Given the description of an element on the screen output the (x, y) to click on. 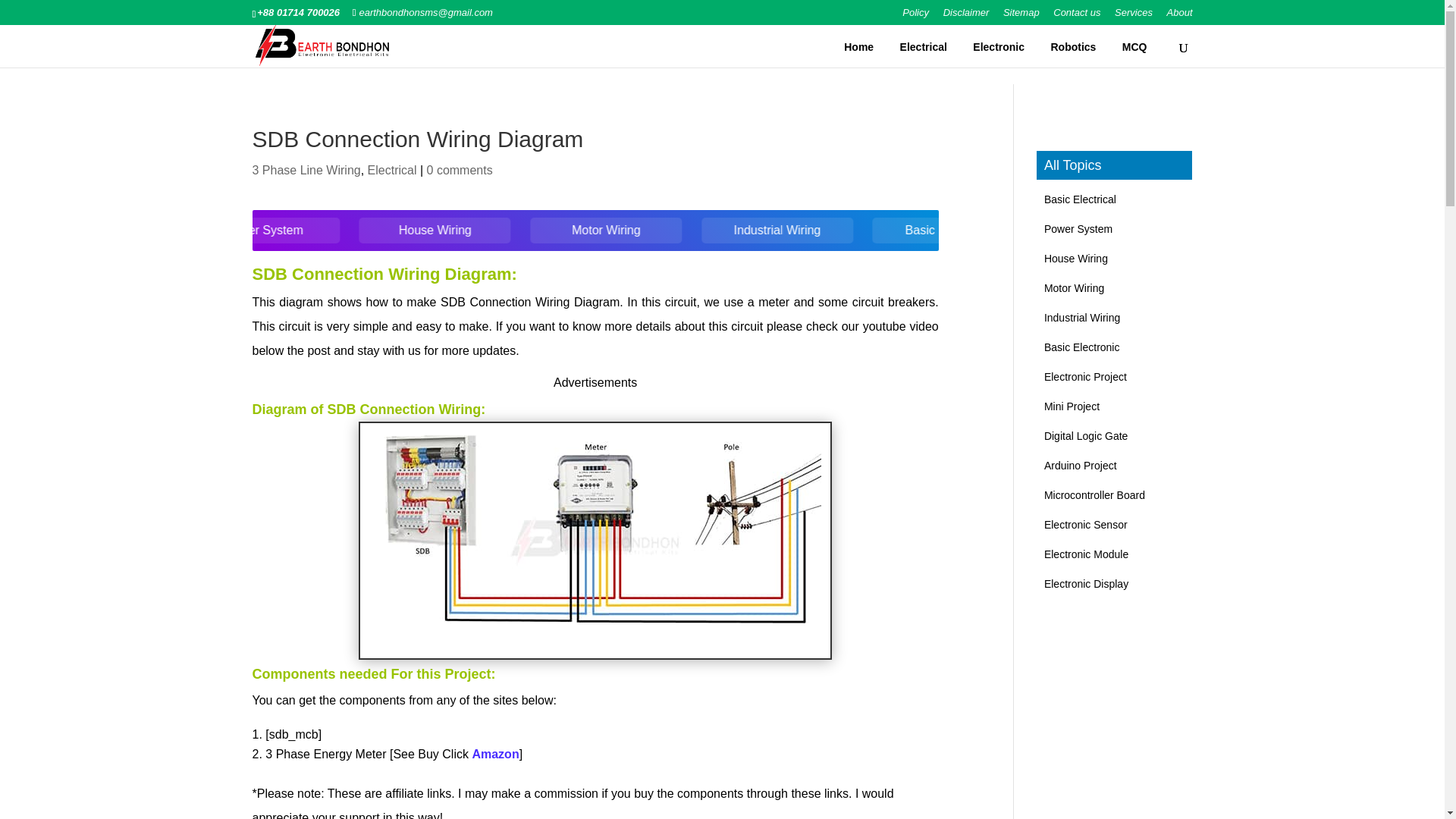
SDB Connection Wiring Diagram (594, 657)
Electrical (392, 169)
Policy (915, 16)
Electrical (923, 46)
Basic Electrical (223, 230)
Home (857, 46)
MCQ (1134, 46)
Contact us (1076, 16)
Disclaimer (966, 16)
Electronic (998, 46)
